Given the description of an element on the screen output the (x, y) to click on. 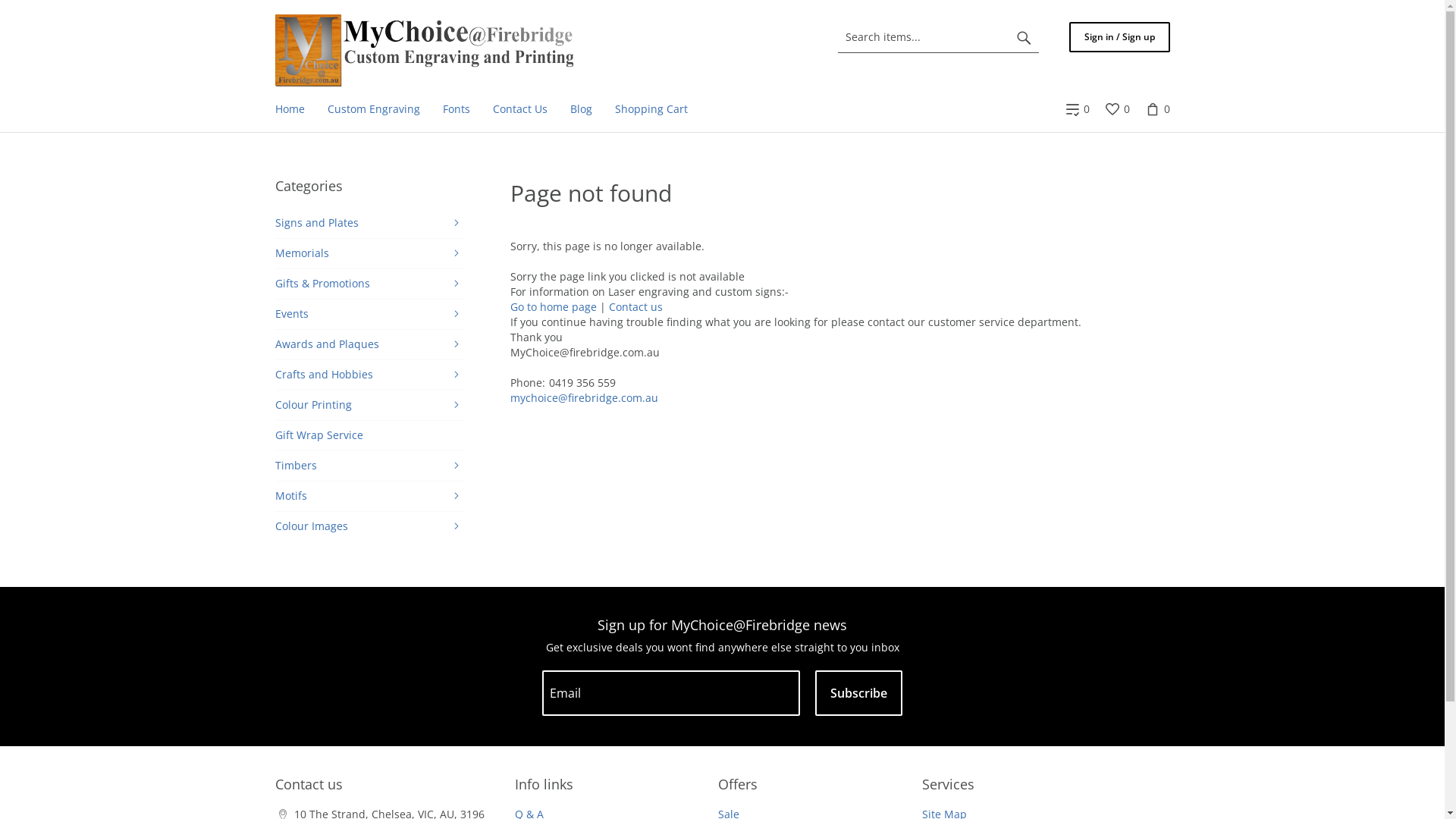
0 Element type: text (1116, 108)
Motifs Element type: text (369, 495)
mychoice@firebridge.com.au Element type: text (583, 397)
Contact Us Element type: text (519, 108)
Gifts & Promotions Element type: text (369, 283)
My Choice Logo Element type: hover (423, 50)
0 Element type: text (1076, 108)
Crafts and Hobbies Element type: text (369, 374)
Memorials Element type: text (369, 253)
Events Element type: text (369, 313)
Blog Element type: text (580, 108)
Home Element type: text (289, 108)
Gift Wrap Service Element type: text (369, 435)
Subscribe Element type: text (858, 692)
Custom Engraving Element type: text (372, 108)
Colour Printing Element type: text (369, 404)
Colour Images Element type: text (369, 526)
Fonts Element type: text (455, 108)
Contact us Element type: text (635, 306)
Signs and Plates Element type: text (369, 223)
Awards and Plaques Element type: text (369, 344)
Timbers Element type: text (369, 465)
Go to home page Element type: text (552, 306)
Sign in / Sign up Element type: text (1119, 36)
Search Element type: hover (1023, 36)
Shopping Cart Element type: text (651, 108)
